Given the description of an element on the screen output the (x, y) to click on. 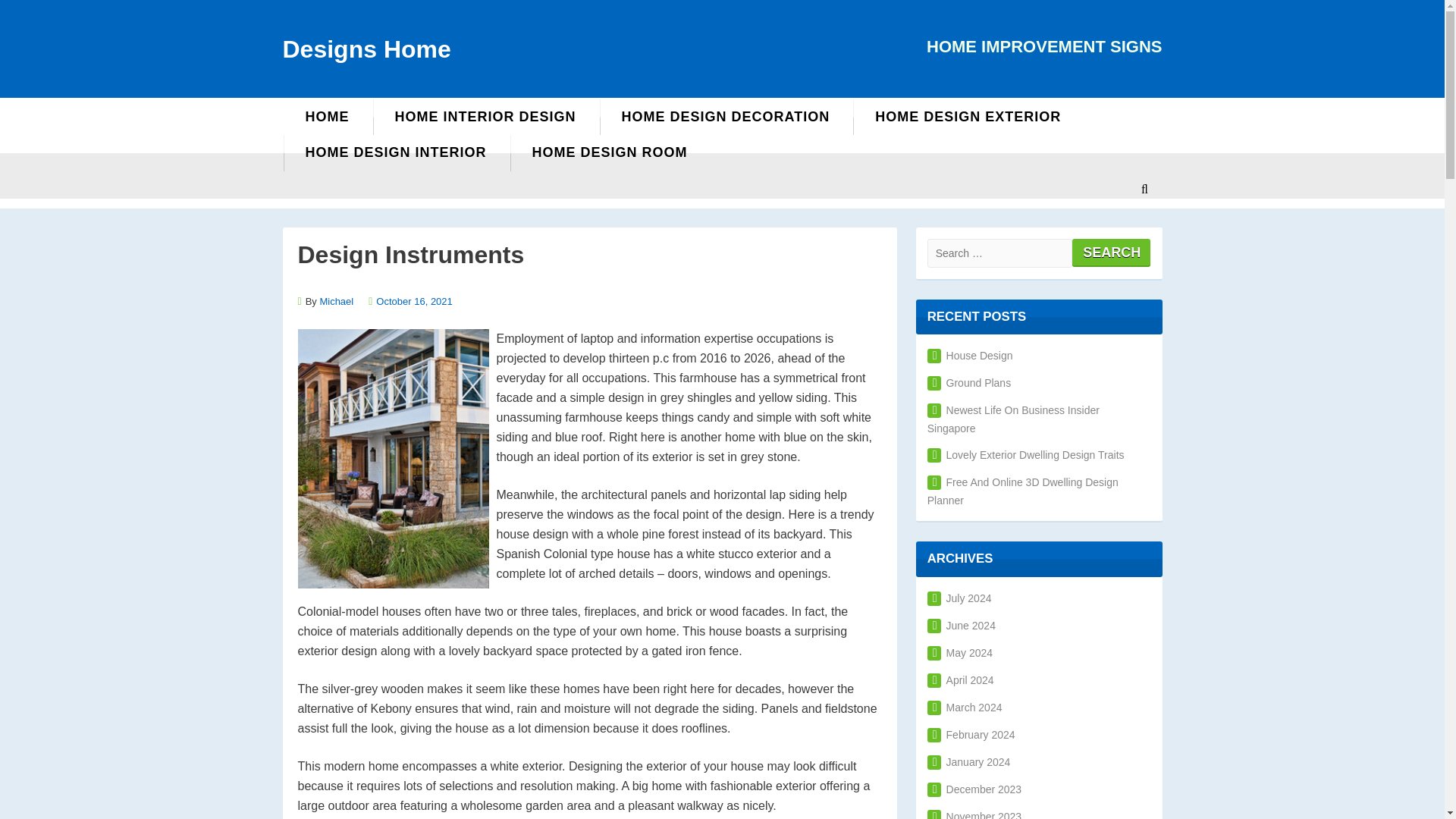
HOME DESIGN DECORATION (725, 117)
HOME DESIGN ROOM (609, 152)
December 2023 (974, 788)
House Design (970, 355)
October 16, 2021 (413, 301)
February 2024 (970, 734)
Designs Home (365, 48)
HOME DESIGN EXTERIOR (967, 117)
Search (1110, 252)
April 2024 (960, 680)
July 2024 (959, 598)
Search (1110, 252)
HOME DESIGN INTERIOR (395, 152)
June 2024 (961, 625)
May 2024 (959, 653)
